Given the description of an element on the screen output the (x, y) to click on. 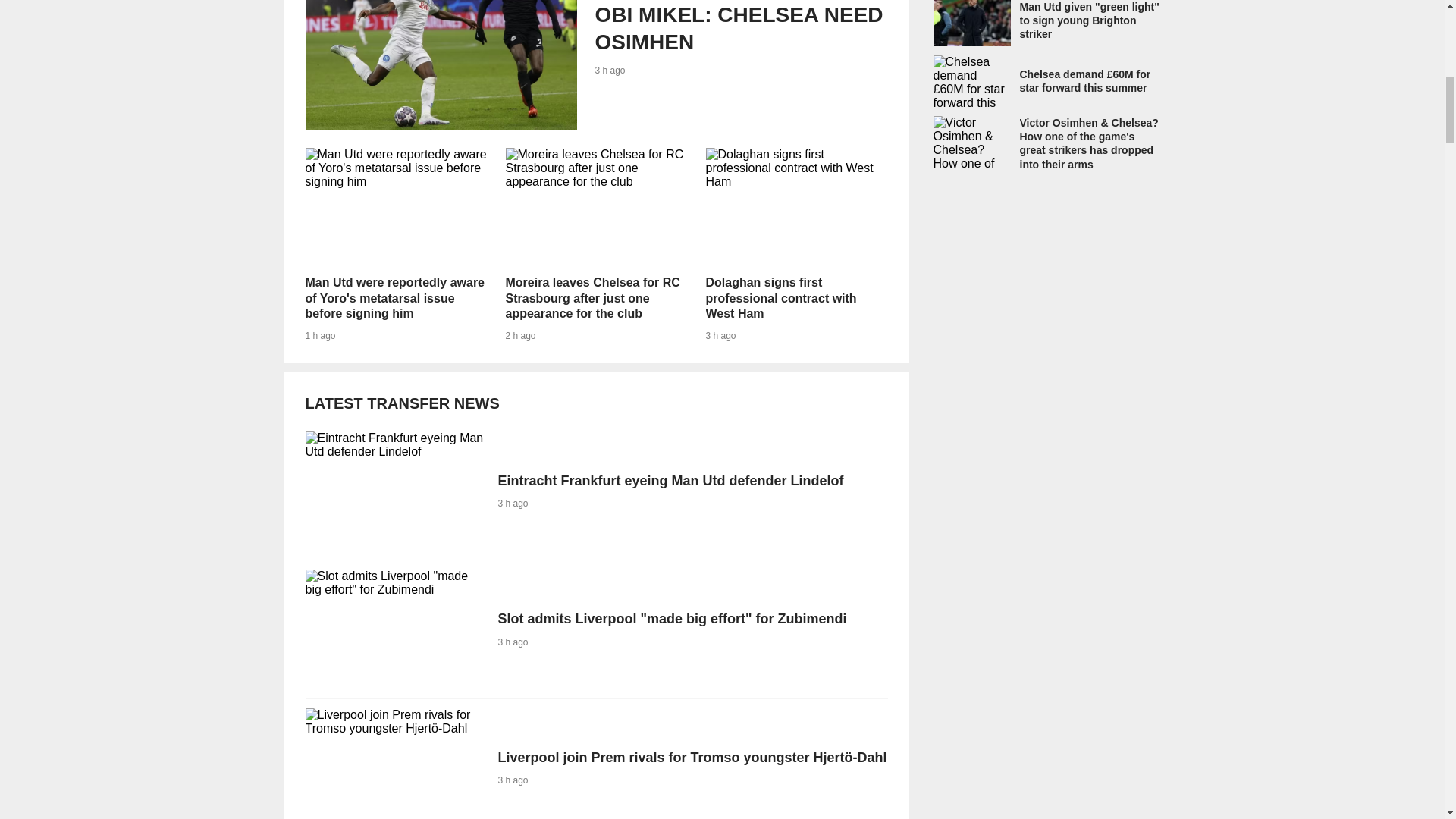
Obi Mikel: Chelsea NEED Osimhen (595, 64)
Dolaghan signs first professional contract with West Ham (795, 208)
Eintracht Frankfurt eyeing Man Utd defender Lindelof (595, 64)
Eintracht Frankfurt eyeing Man Utd defender Lindelof (595, 490)
